Given the description of an element on the screen output the (x, y) to click on. 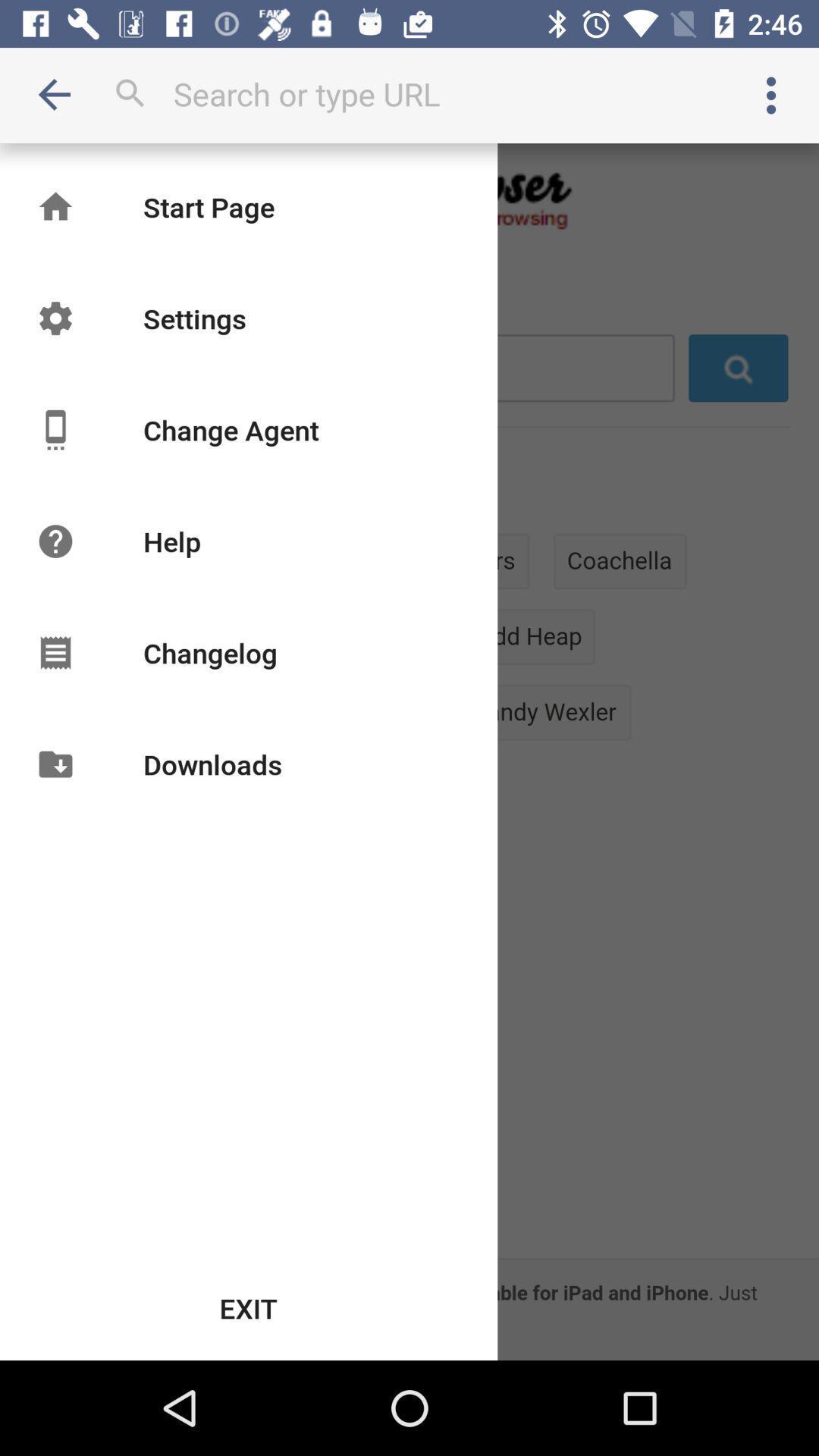
flip to start page (208, 206)
